Given the description of an element on the screen output the (x, y) to click on. 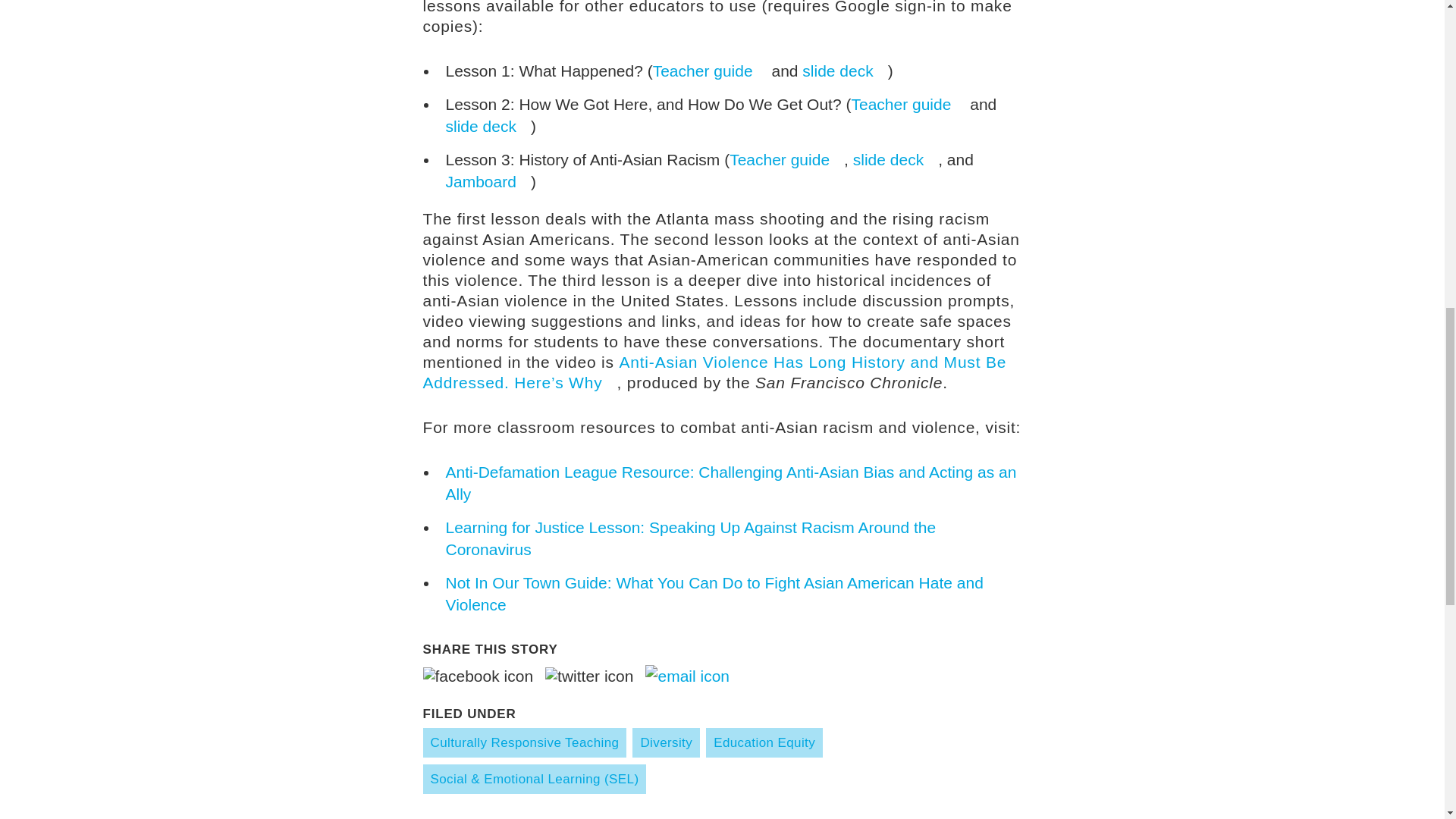
Jamboard (488, 181)
Education Equity (764, 742)
Teacher guide (907, 104)
slide deck (844, 70)
Teacher guide (786, 159)
slide deck (895, 159)
slide deck (488, 126)
Teacher guide (709, 70)
Culturally Responsive Teaching (525, 742)
Diversity (665, 742)
